Given the description of an element on the screen output the (x, y) to click on. 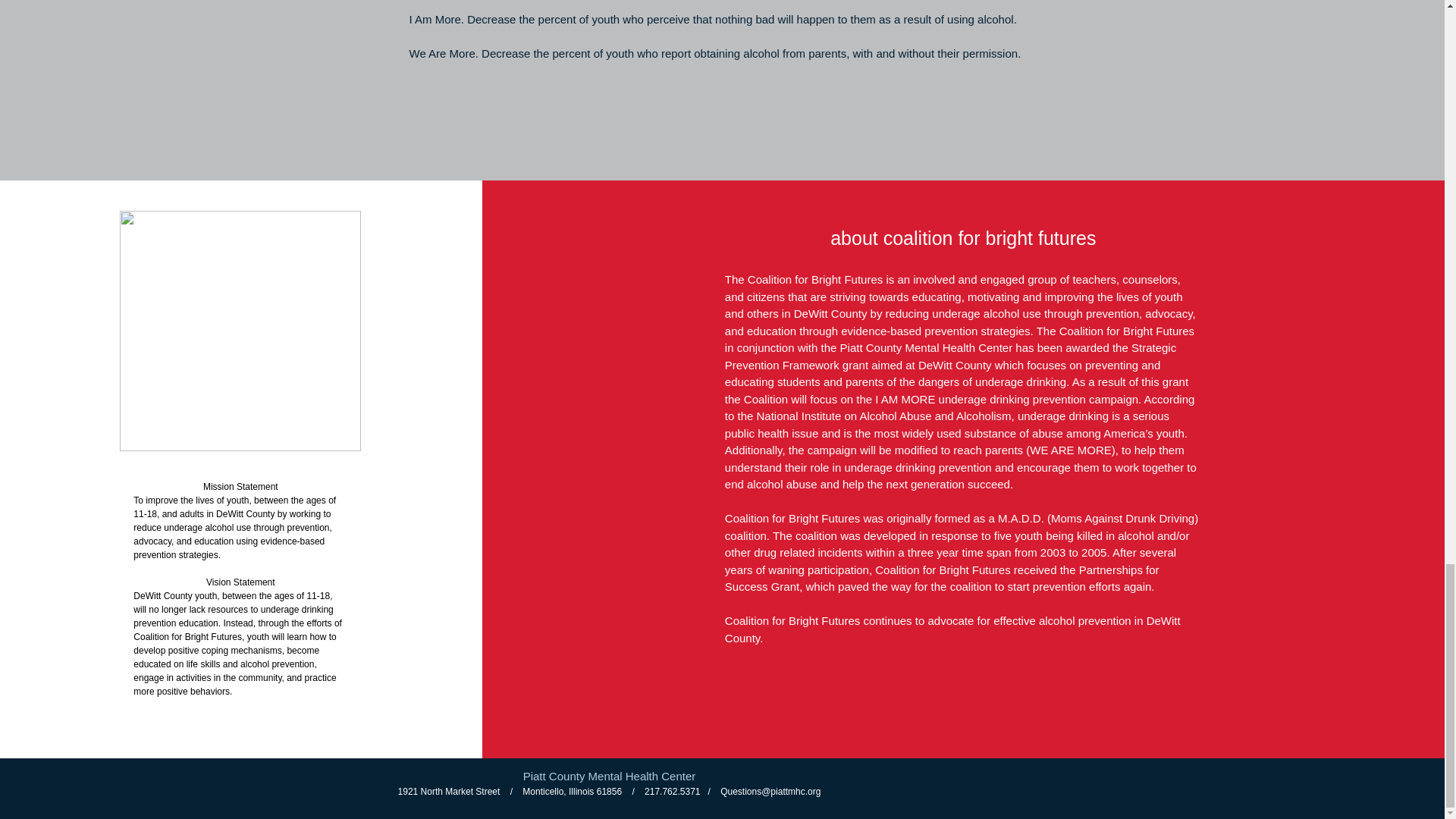
217.762.5371 (672, 791)
